Given the description of an element on the screen output the (x, y) to click on. 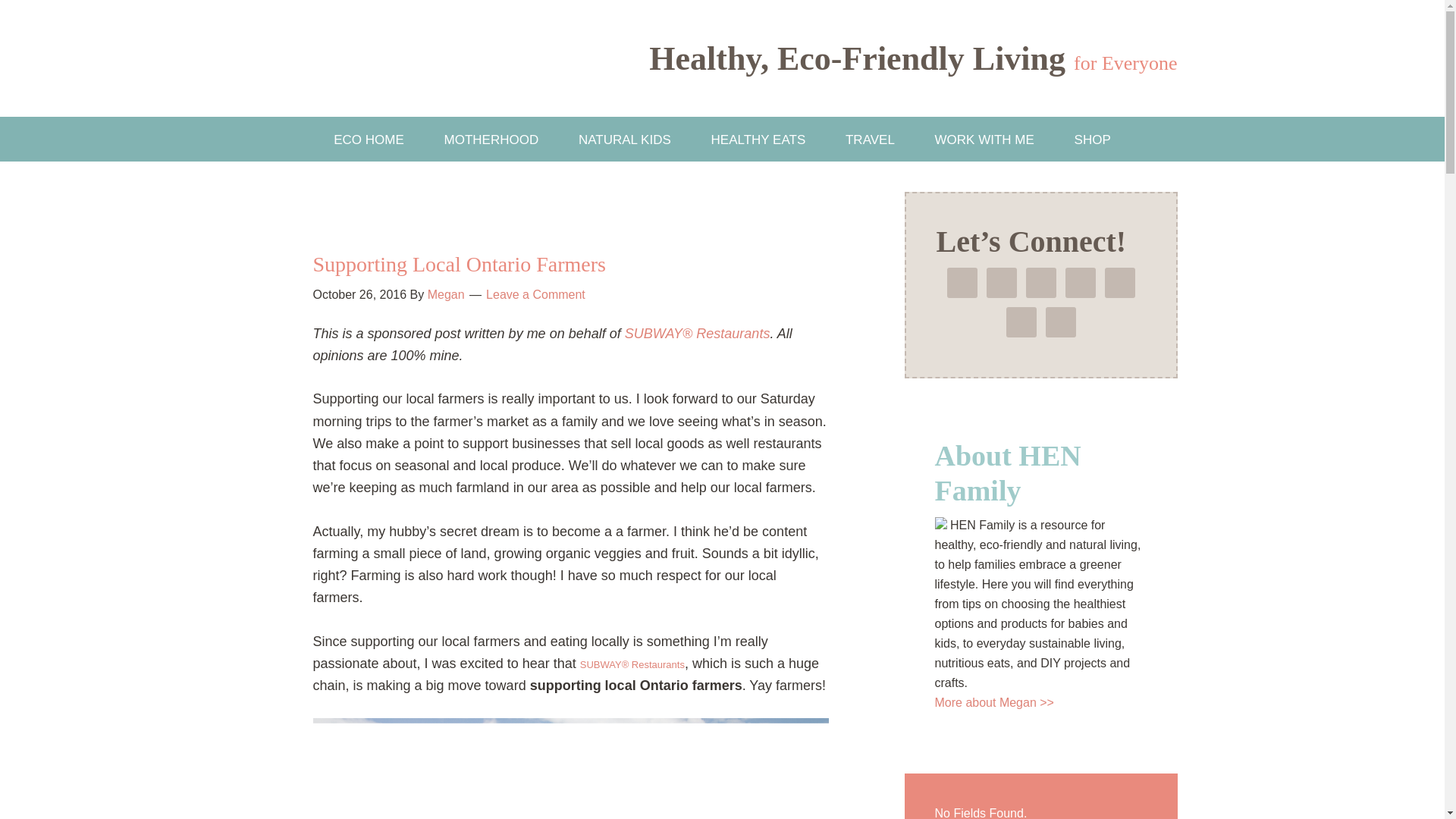
MOTHERHOOD (491, 139)
Leave a Comment (535, 294)
WORK WITH ME (984, 139)
HEALTHY EATS (758, 139)
SHOP (1093, 139)
NATURAL KIDS (624, 139)
TRAVEL (869, 139)
HEN Family (403, 57)
ECO HOME (368, 139)
Pregnancy, Parenting, Mental Health (491, 139)
